Given the description of an element on the screen output the (x, y) to click on. 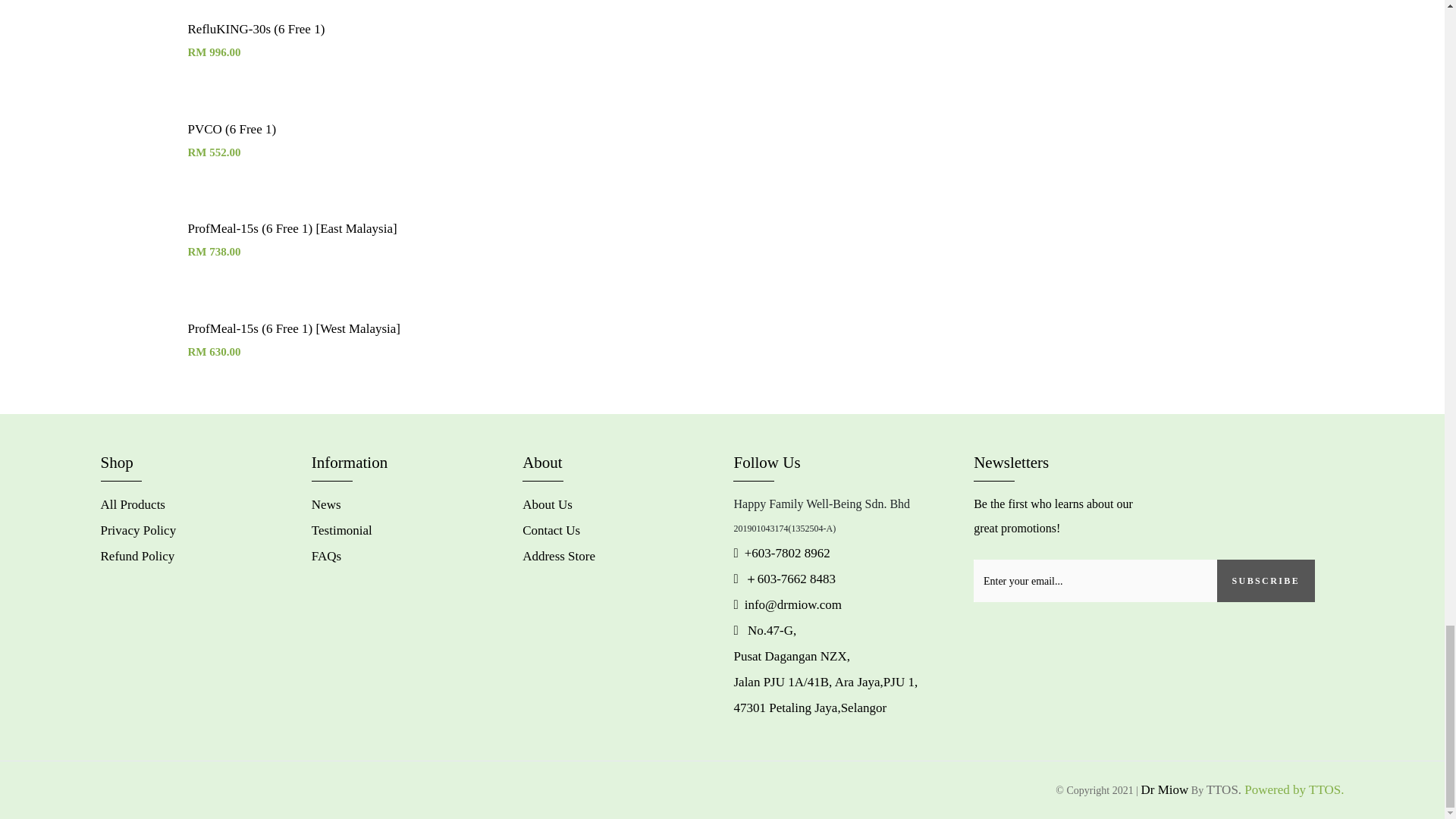
News (325, 504)
Testimonial (341, 530)
Privacy Policy (138, 530)
About Us (547, 504)
FAQs (325, 555)
Refund Policy (137, 555)
Contact (550, 530)
